Given the description of an element on the screen output the (x, y) to click on. 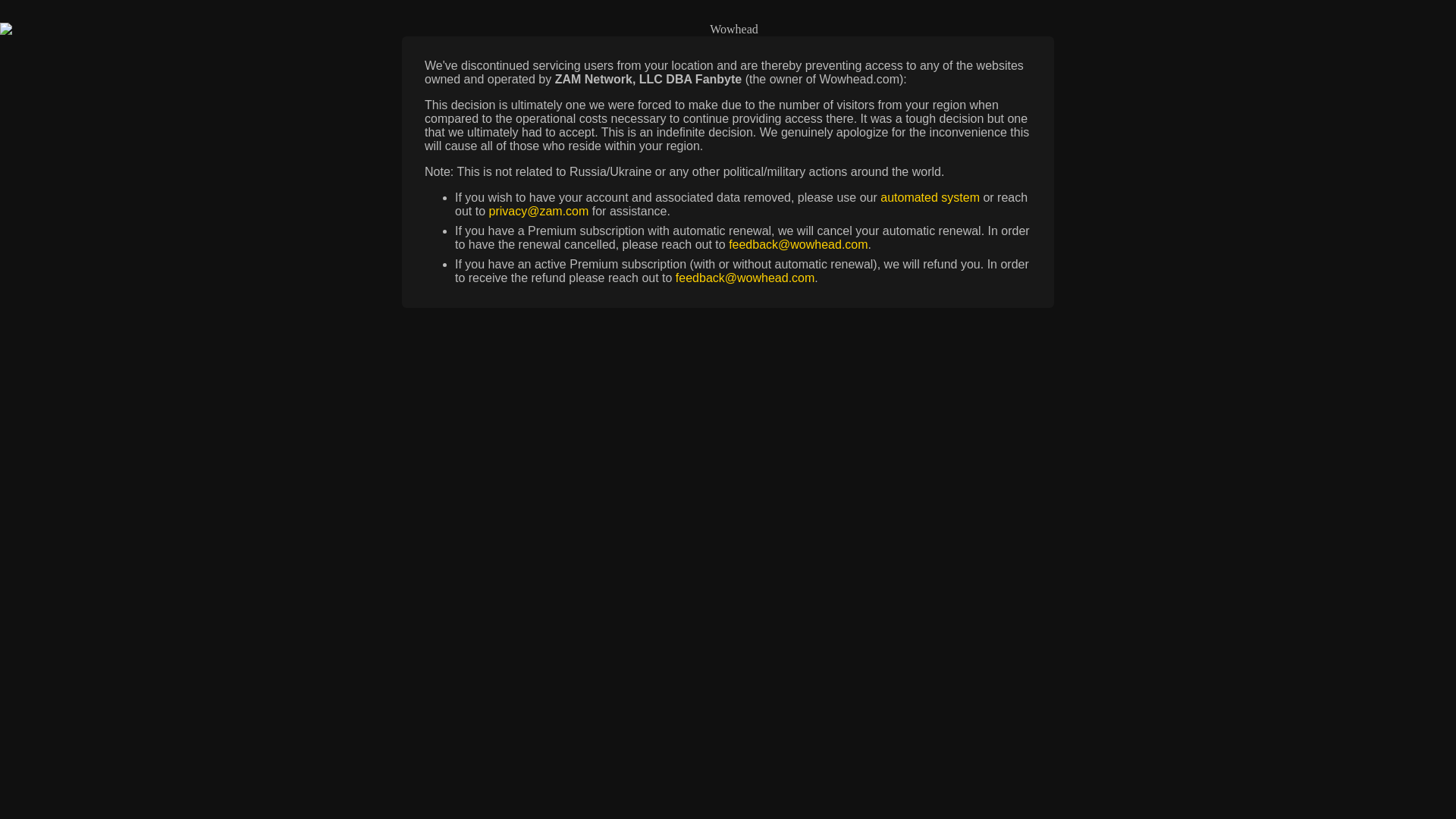
automated system (929, 196)
